Given the description of an element on the screen output the (x, y) to click on. 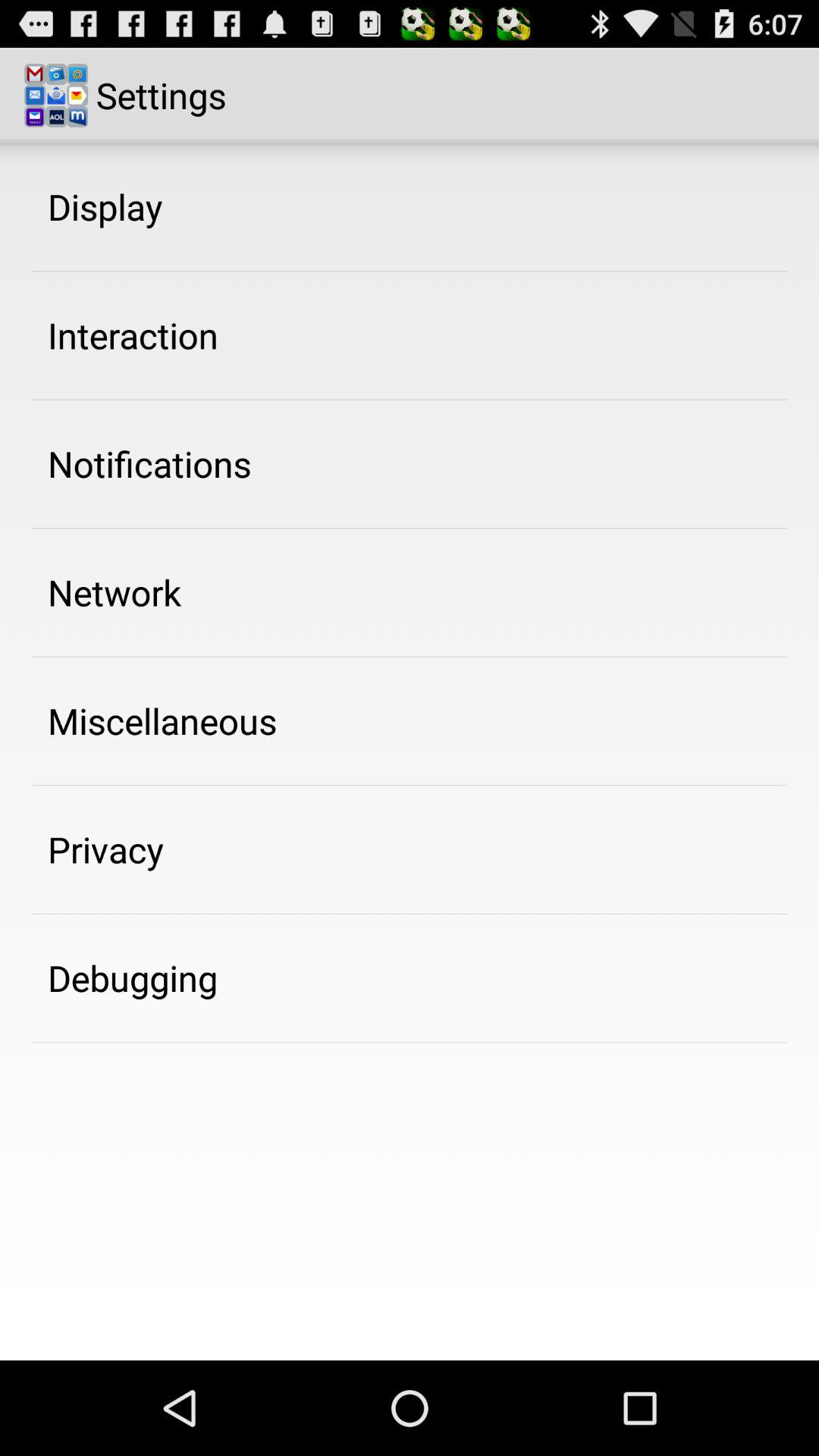
press the debugging item (132, 977)
